Given the description of an element on the screen output the (x, y) to click on. 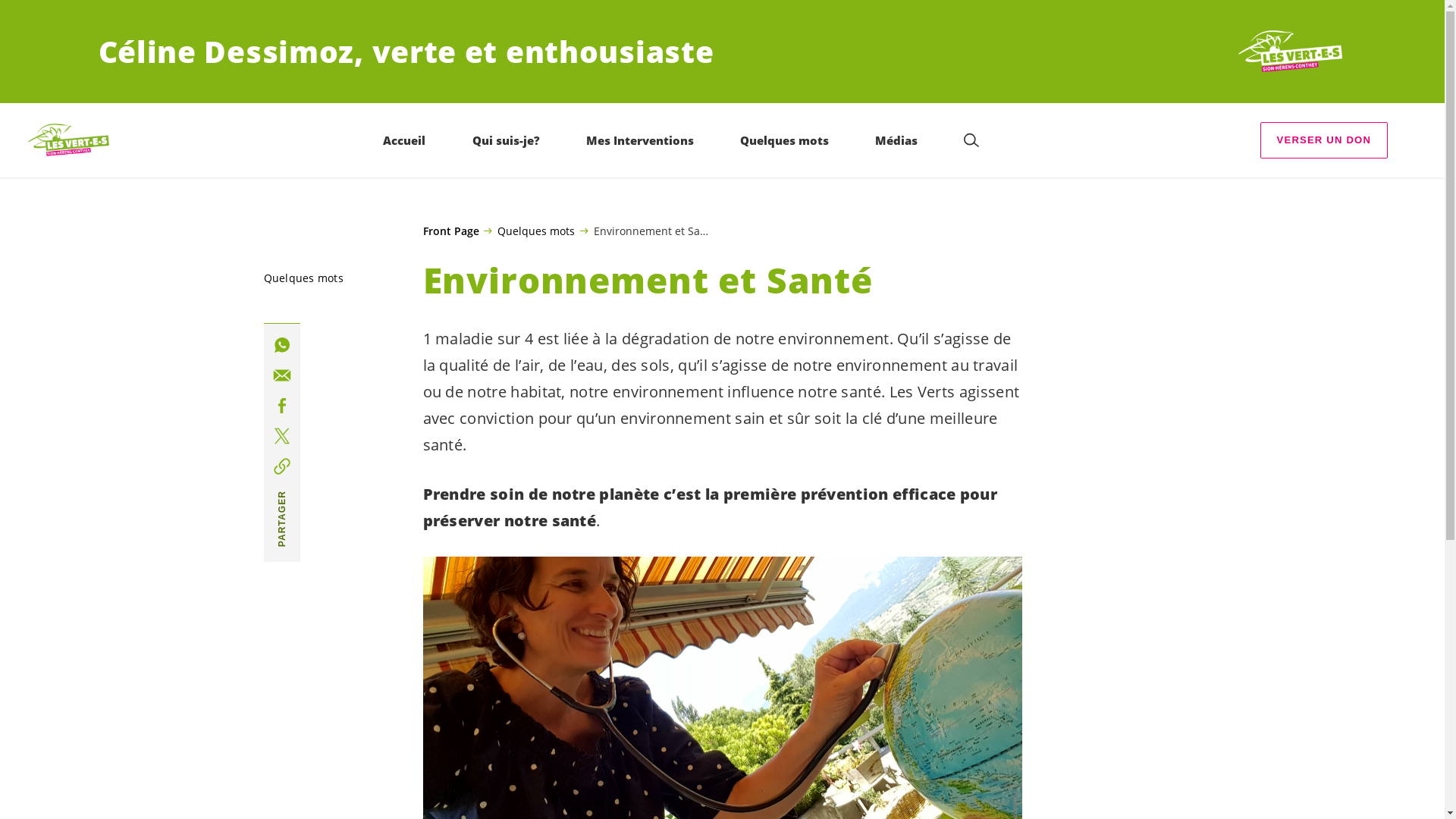
Partage ce site sur Facebook Element type: text (281, 405)
Partage ce site Element type: text (281, 435)
VERSER UN DON Element type: text (1323, 140)
Partage ce site par courriel Element type: text (281, 375)
Partage ce site par WhatsApp Element type: text (281, 344)
Page d'accueil Element type: hover (68, 140)
Mes Interventions Element type: text (639, 139)
Quelques mots Element type: text (303, 277)
Qui suis-je? Element type: text (505, 139)
Quelques mots Element type: text (528, 230)
copier le lien de cette page Element type: text (281, 466)
Page d'accueil Element type: hover (1289, 51)
Accueil Element type: text (403, 139)
ALLER AU CONTENU PRINCIPAL Element type: text (104, 15)
Front Page Element type: text (451, 230)
Quelques mots Element type: text (784, 139)
